Given the description of an element on the screen output the (x, y) to click on. 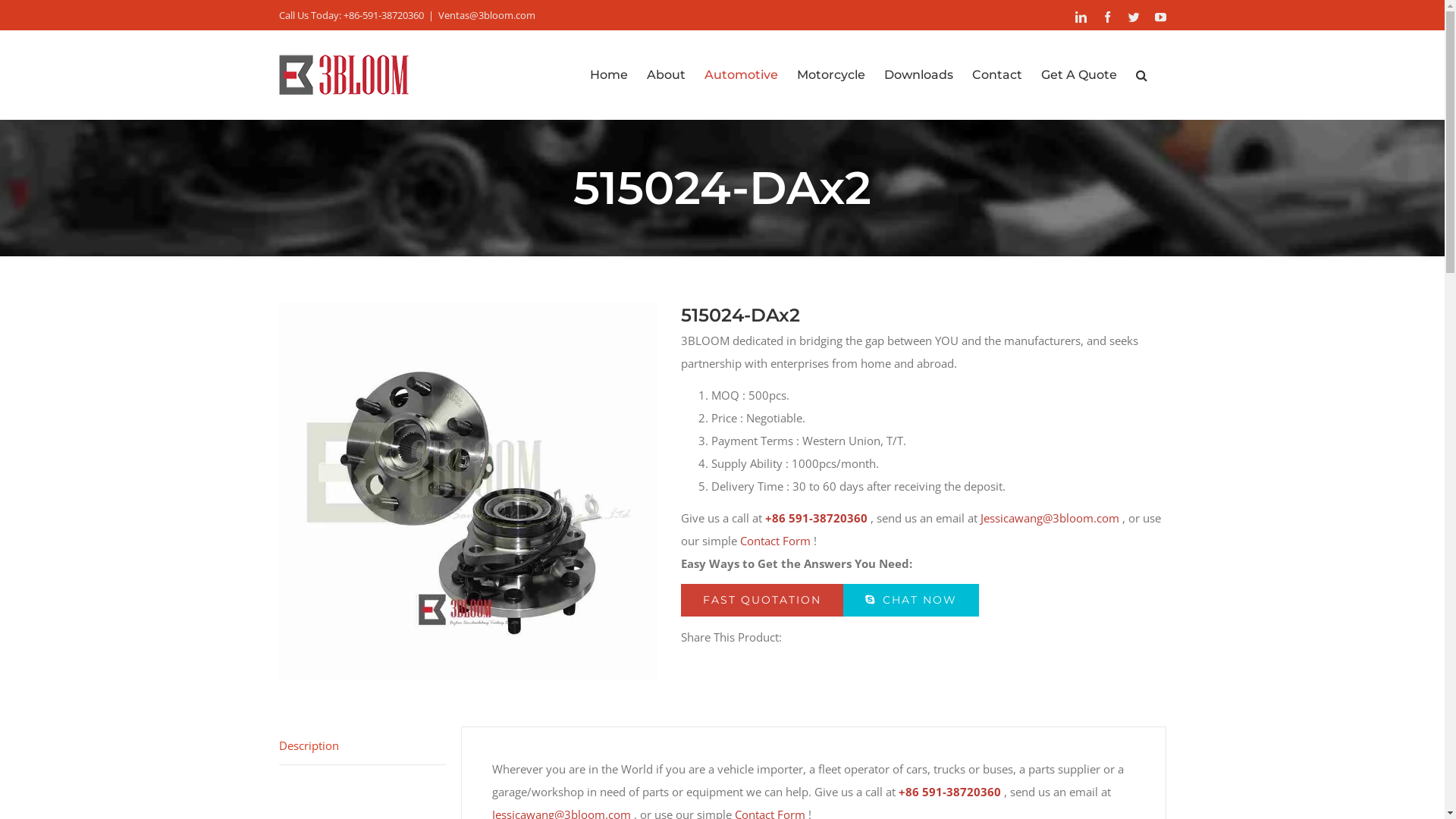
Motorcycle Element type: text (830, 75)
Jessicawang@3bloom.com Element type: text (1048, 517)
Search Element type: hover (1141, 75)
CHAT NOW Element type: text (911, 599)
About Element type: text (665, 75)
Get A Quote Element type: text (1078, 75)
Facebook Element type: text (1106, 16)
Downloads Element type: text (918, 75)
YouTube Element type: text (1159, 16)
515024-DA-x2 Element type: hover (468, 490)
Contact Element type: text (997, 75)
Twitter Element type: text (1133, 16)
LinkedIn Element type: text (1080, 16)
FAST QUOTATION Element type: text (761, 599)
Ventas@3bloom.com Element type: text (486, 14)
Automotive Element type: text (740, 75)
Description Element type: text (362, 745)
Home Element type: text (608, 75)
Contact Form Element type: text (775, 540)
